Given the description of an element on the screen output the (x, y) to click on. 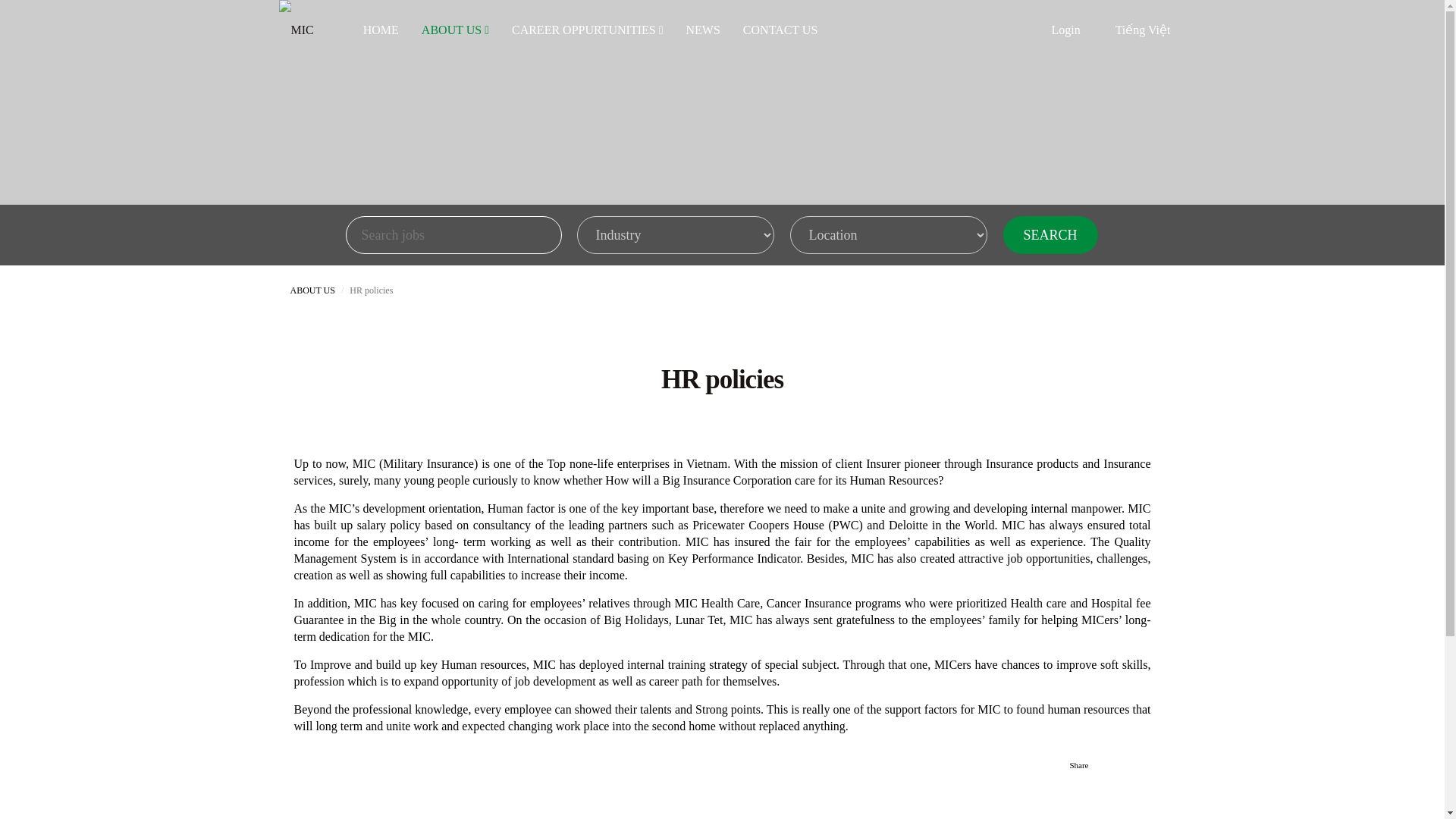
ABOUT US (455, 29)
Login (1065, 29)
HOME (380, 29)
NEWS (702, 29)
SEARCH (1050, 234)
CAREER OPPURTUNITIES (587, 29)
CONTACT US (779, 29)
